Given the description of an element on the screen output the (x, y) to click on. 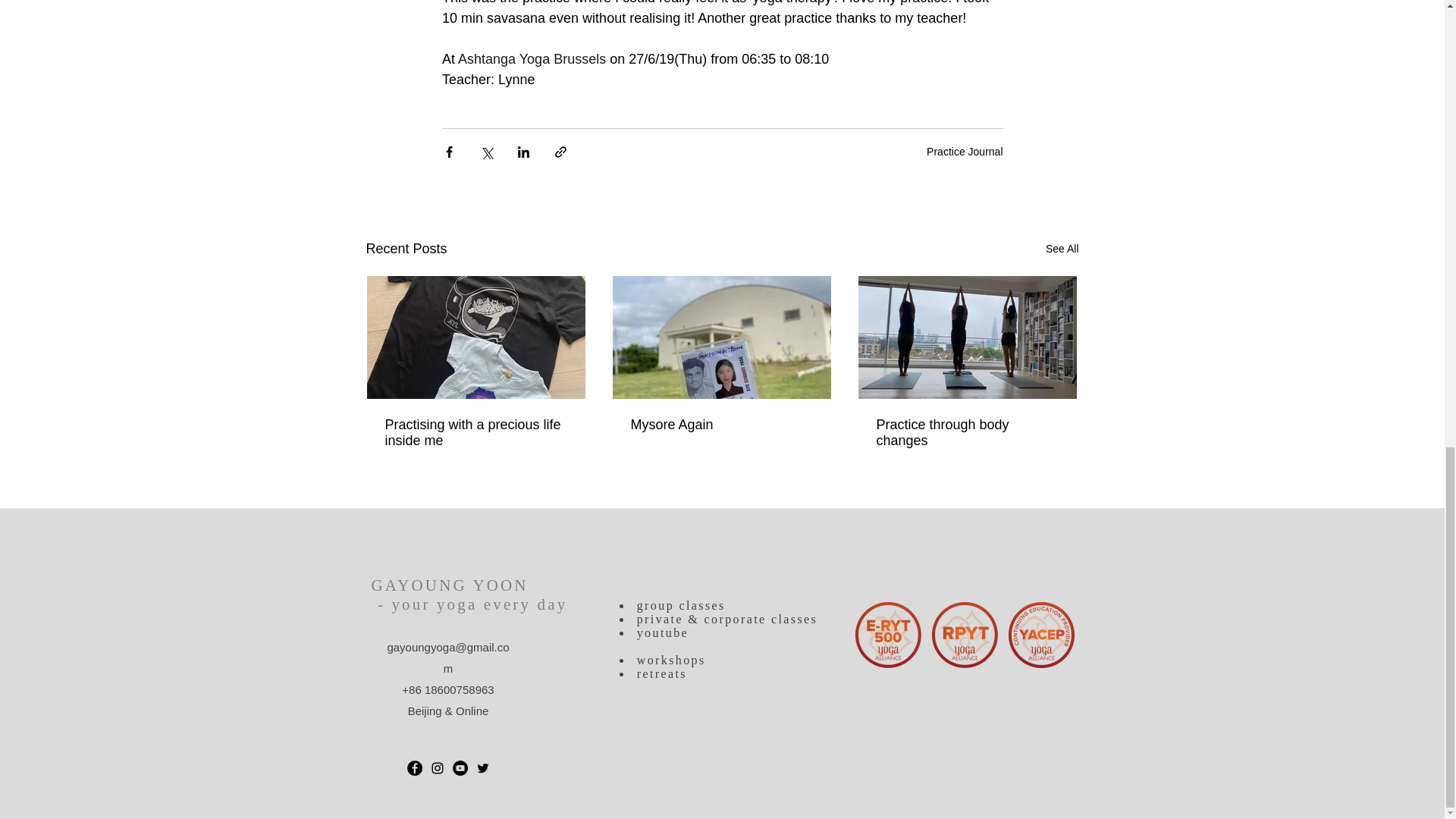
Mysore Again (721, 424)
GAYOUNG YOON (449, 585)
See All (1061, 249)
Ashtanga Yoga Brussels (531, 58)
RPYT.png (964, 634)
Practice through body changes (967, 432)
Practice Journal (964, 150)
 youtube (659, 632)
workshops (671, 659)
 - your yoga every day (469, 604)
